Given the description of an element on the screen output the (x, y) to click on. 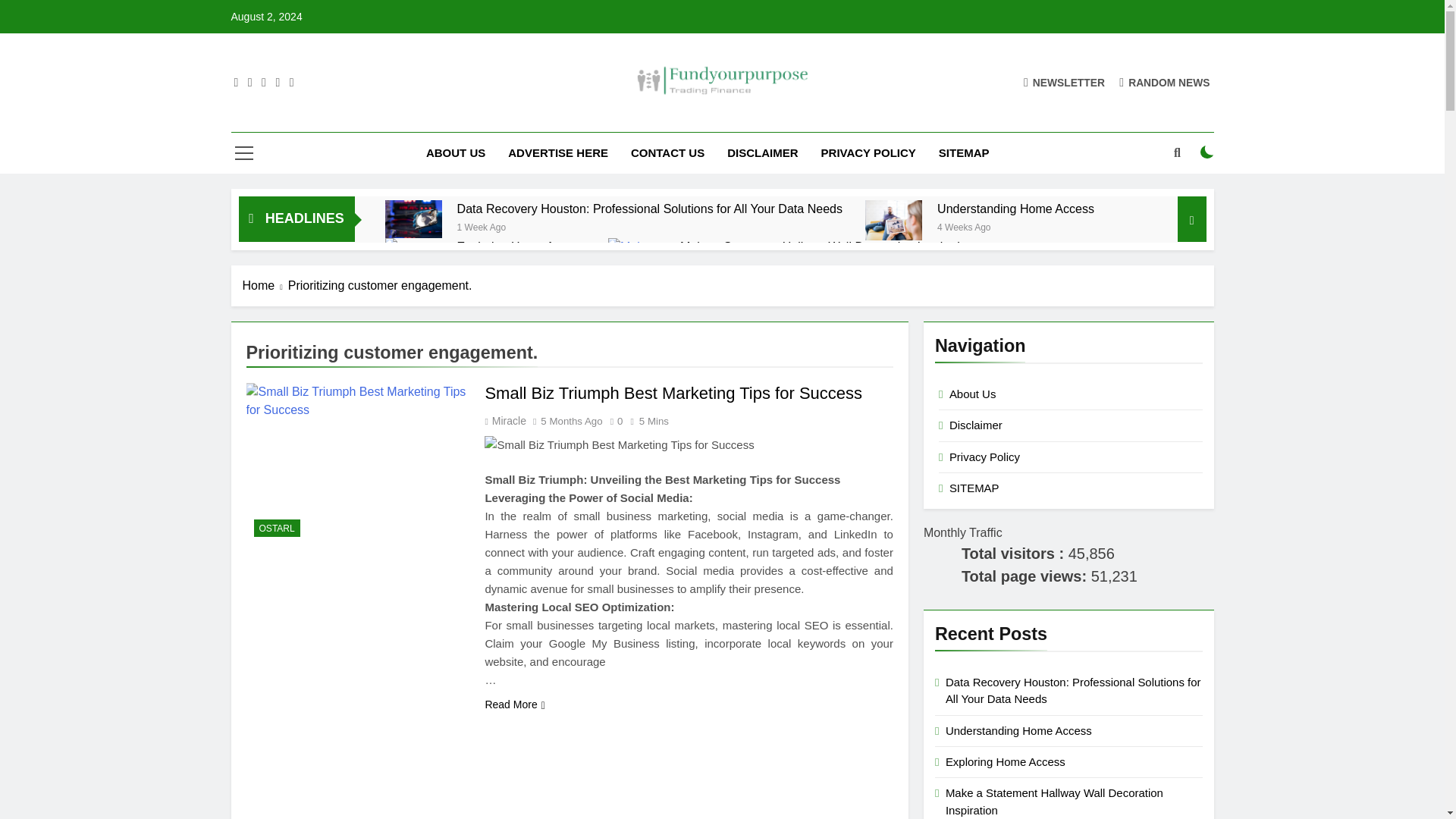
Understanding Home Access (1015, 208)
CONTACT US (668, 152)
Make a Statement Hallway Wall Decoration Inspiration (825, 246)
Make a Statement Hallway Wall Decoration Inspiration (825, 246)
NEWSLETTER (1064, 82)
ADVERTISE HERE (558, 152)
1 Week Ago (481, 226)
SITEMAP (964, 152)
DISCLAIMER (762, 152)
4 Weeks Ago (964, 226)
Understanding Home Access (1015, 208)
Fundyourpurpose (612, 118)
Exploring Home Access (521, 246)
